Given the description of an element on the screen output the (x, y) to click on. 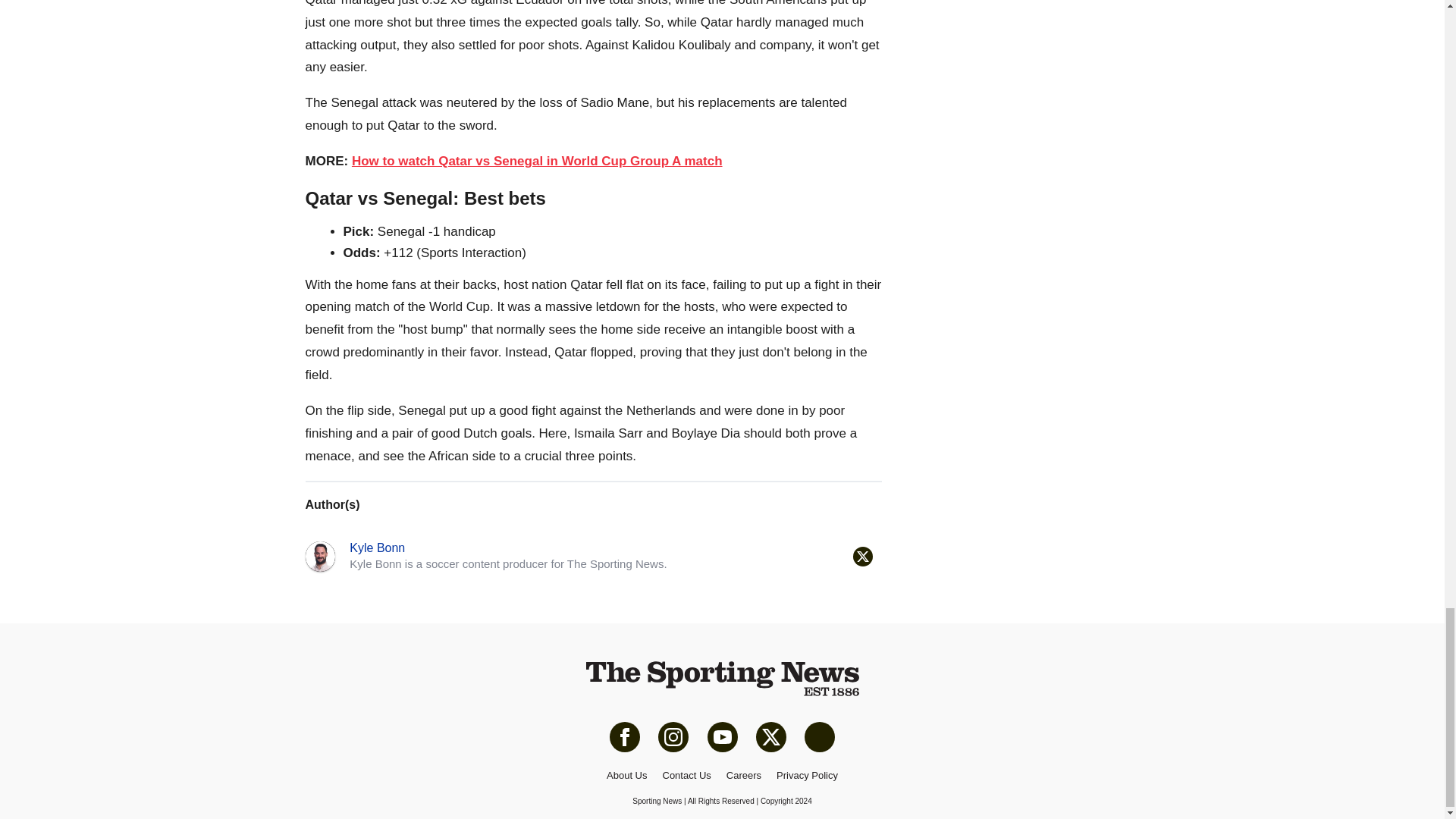
Open the author page on Twitter (861, 556)
